Given the description of an element on the screen output the (x, y) to click on. 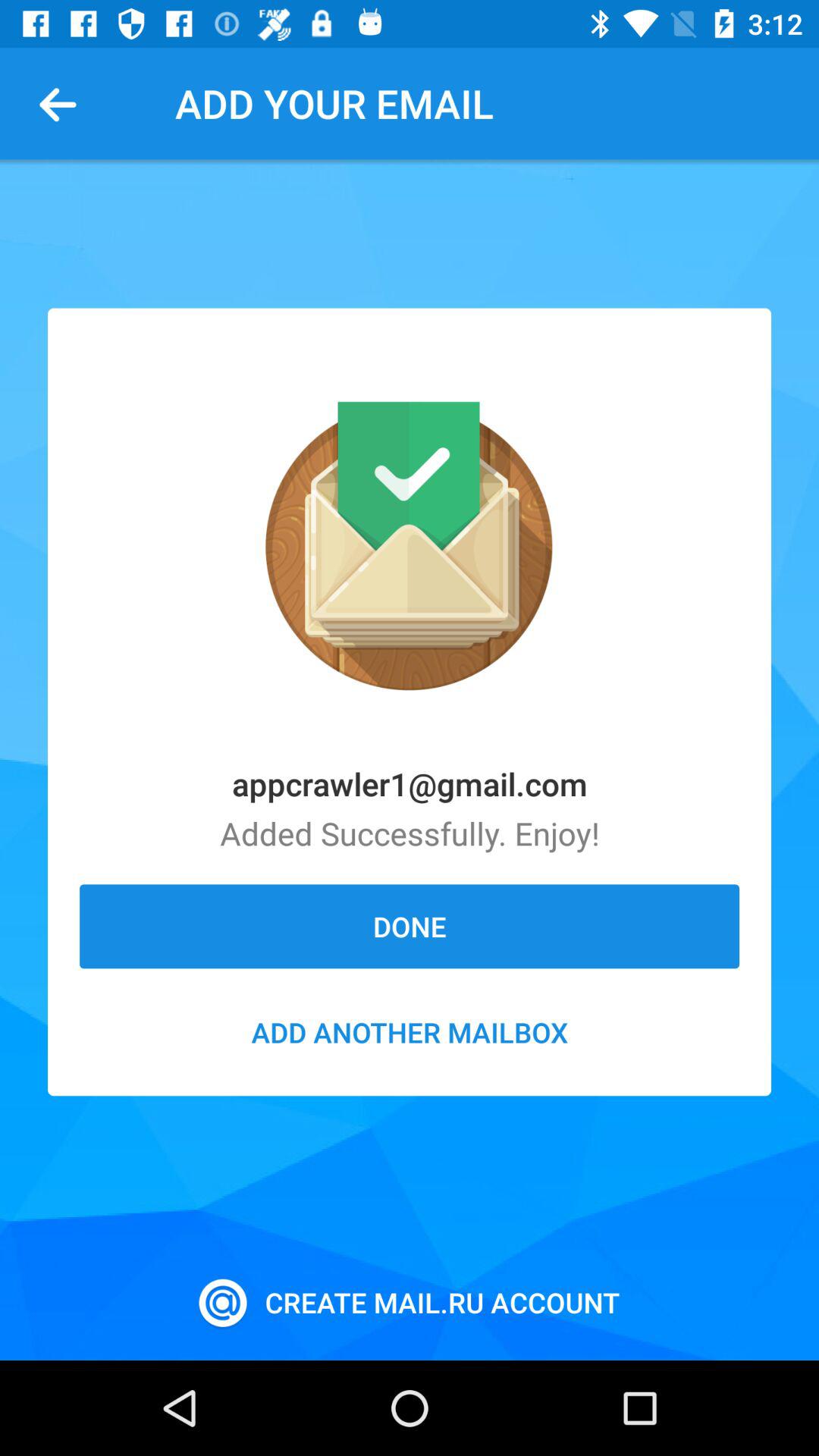
flip until done (409, 926)
